Given the description of an element on the screen output the (x, y) to click on. 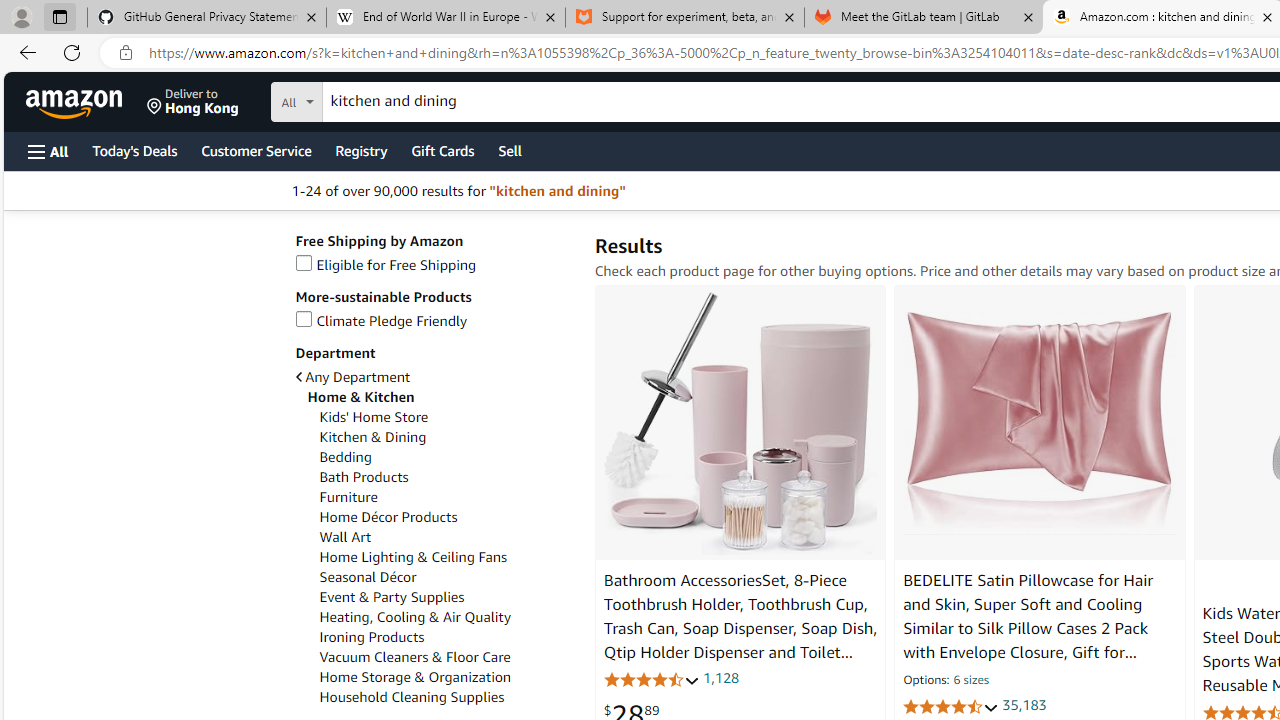
Gift Cards (442, 150)
Bedding (446, 457)
End of World War II in Europe - Wikipedia (445, 17)
Kids' Home Store (373, 417)
Kitchen & Dining (372, 437)
Vacuum Cleaners & Floor Care (446, 657)
4.3 out of 5 stars (651, 678)
Event & Party Supplies (446, 597)
Amazon (76, 101)
Ironing Products (371, 637)
Home Lighting & Ceiling Fans (413, 557)
Search in (371, 99)
Any Department (434, 376)
Today's Deals (134, 150)
6 sizes (970, 681)
